Given the description of an element on the screen output the (x, y) to click on. 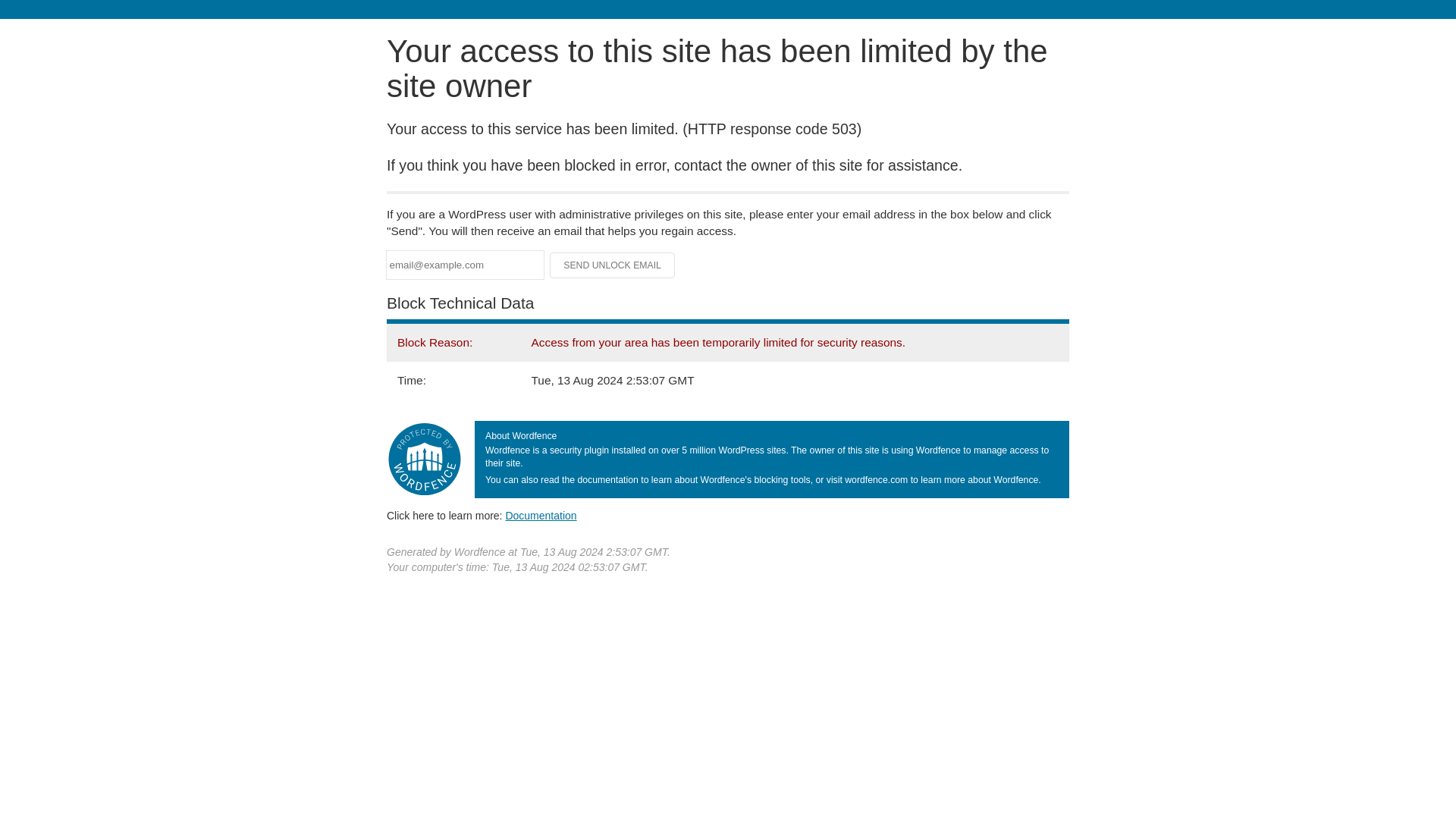
Send Unlock Email (612, 265)
Documentation (540, 515)
Send Unlock Email (612, 265)
